Given the description of an element on the screen output the (x, y) to click on. 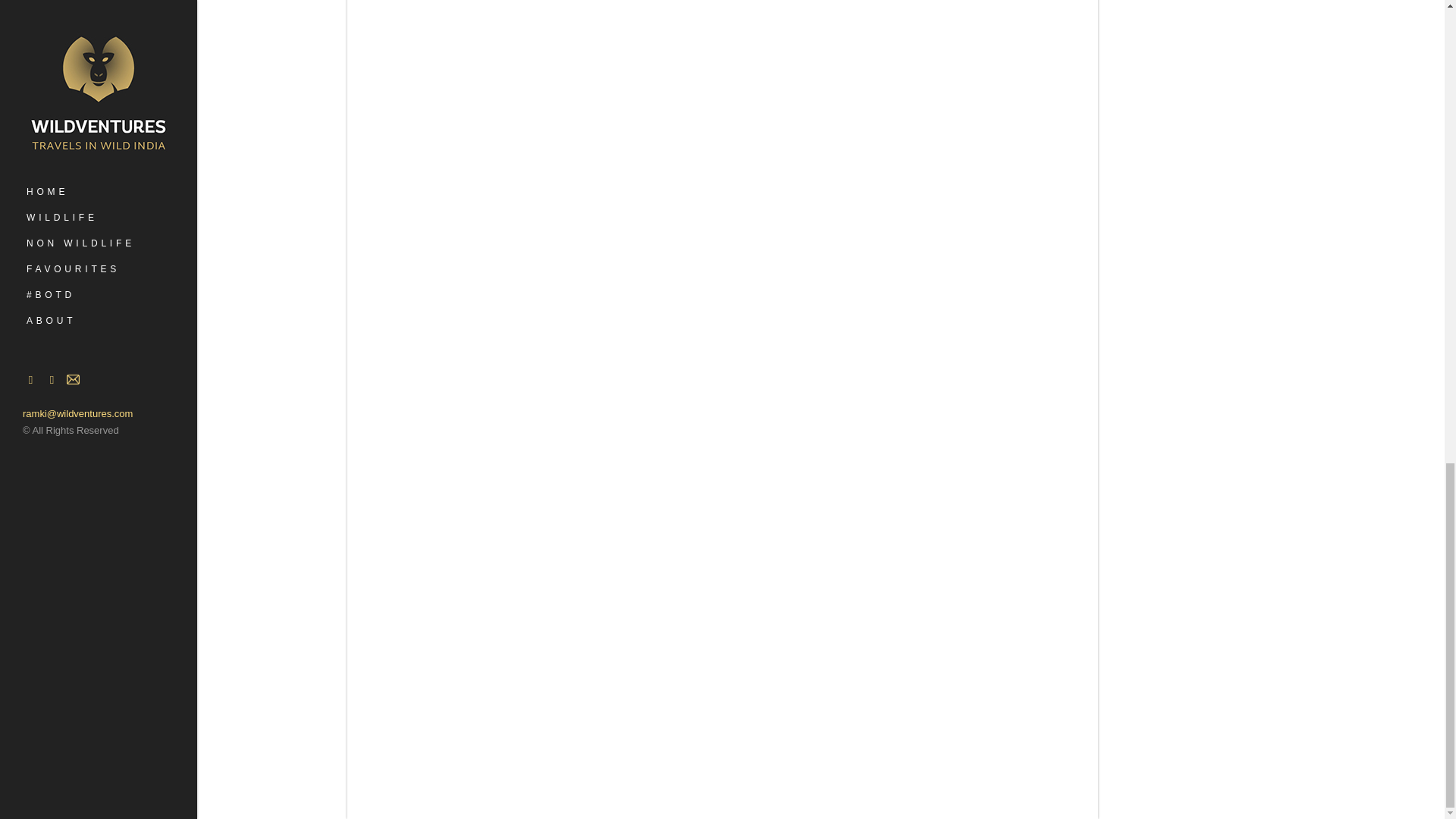
VIEW (633, 238)
VIEW (987, 238)
VIEW (633, 628)
VIEW (456, 628)
VIEW (456, 238)
VIEW (987, 3)
VIEW (456, 88)
VIEW (456, 3)
VIEW (633, 389)
VIEW (810, 478)
